Given the description of an element on the screen output the (x, y) to click on. 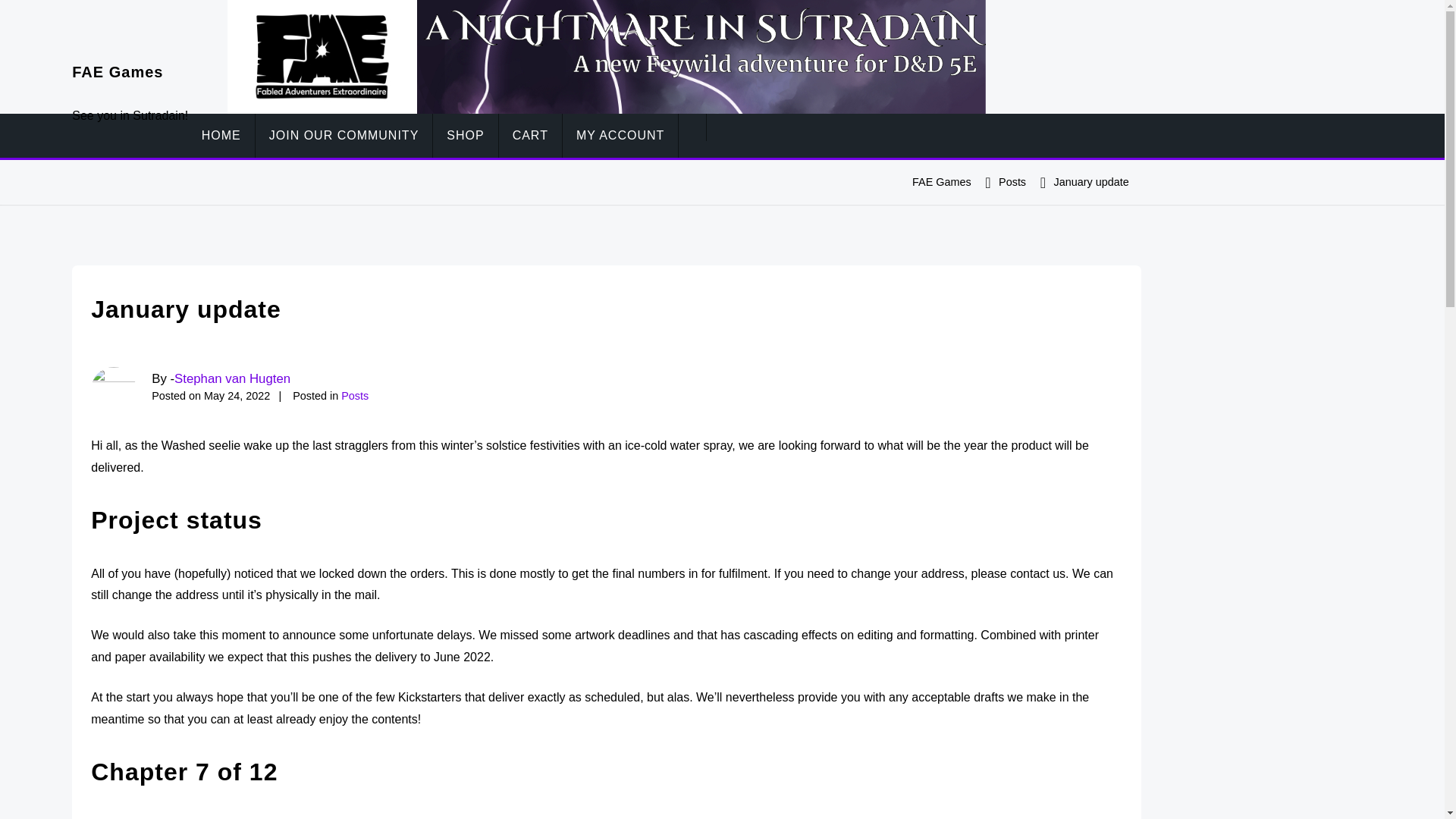
MY ACCOUNT (620, 135)
FAE Games (941, 182)
Posts (354, 395)
Go to FAE Games. (941, 182)
Go to the Posts Category archives. (1012, 182)
Posts (1012, 182)
JOIN OUR COMMUNITY (344, 135)
CART (530, 135)
FAE Games (117, 71)
SHOP (464, 135)
HOME (221, 135)
Stephan van Hugten (231, 378)
